Given the description of an element on the screen output the (x, y) to click on. 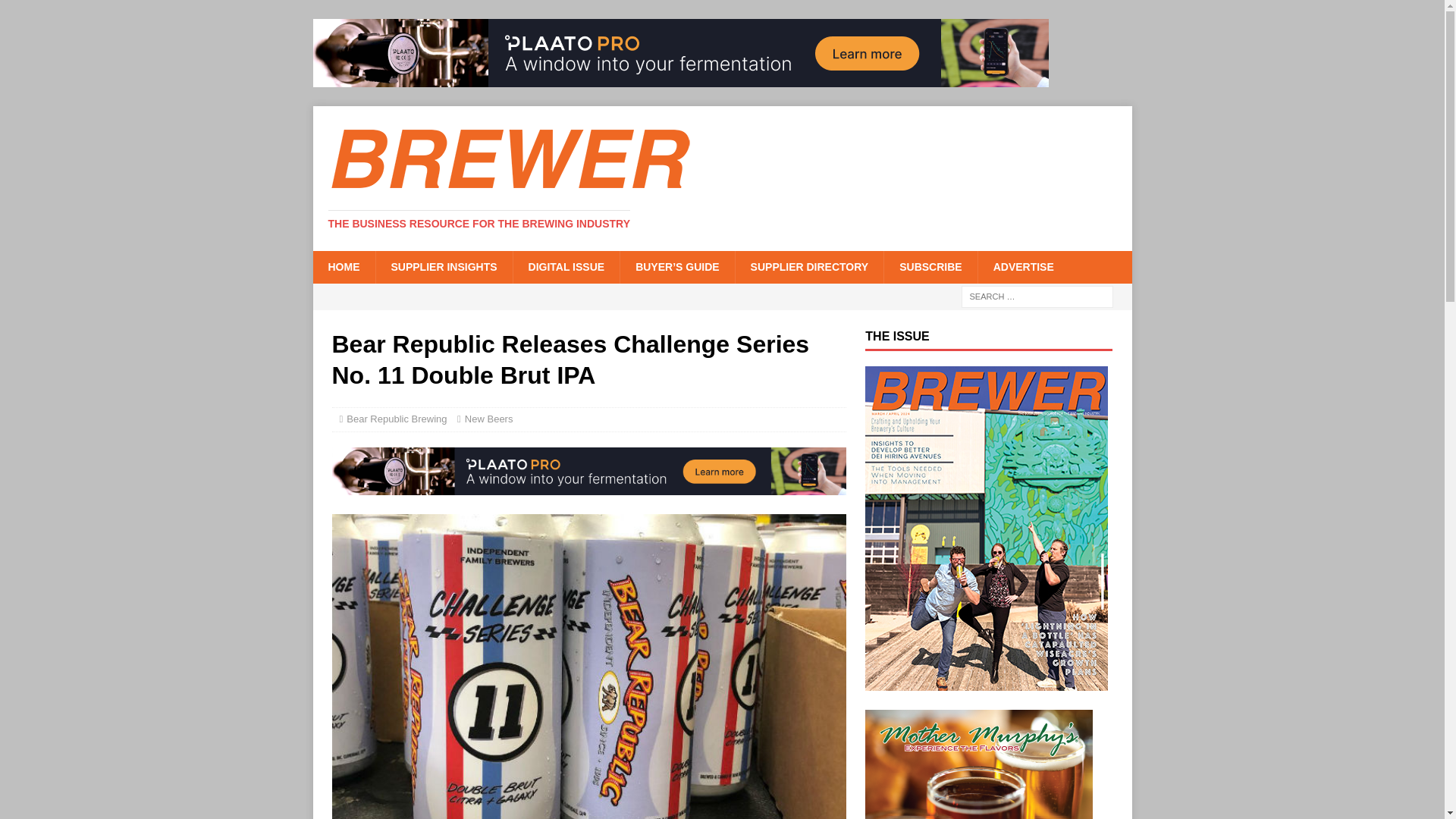
Search (56, 11)
THE BUSINESS RESOURCE FOR THE BREWING INDUSTRY (478, 223)
SUPPLIER DIRECTORY (809, 266)
ADVERTISE (1022, 266)
SUBSCRIBE (929, 266)
SUPPLIER INSIGHTS (443, 266)
DIGITAL ISSUE (566, 266)
HOME (343, 266)
Bear Republic Brewing (396, 419)
New Beers (488, 419)
